Given the description of an element on the screen output the (x, y) to click on. 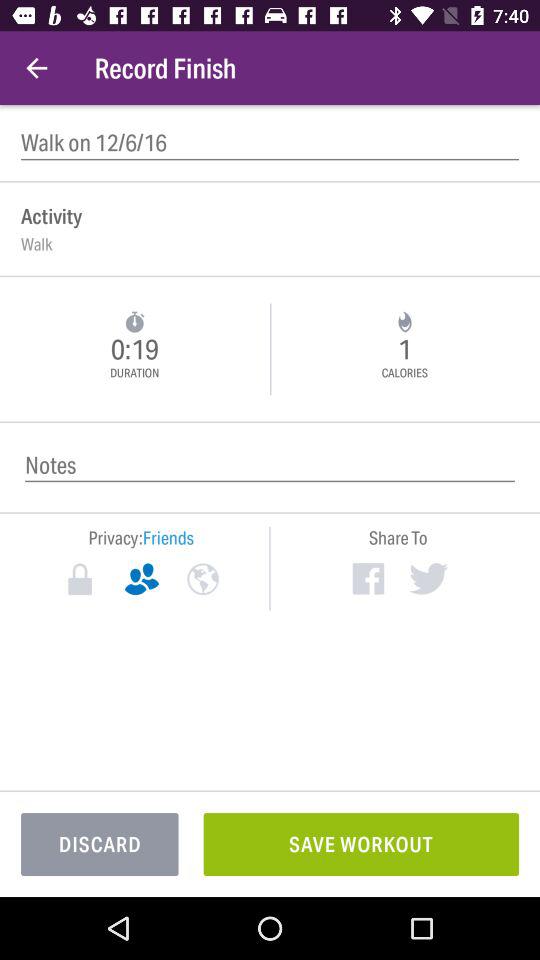
choose the icon next to the record finish item (36, 68)
